Given the description of an element on the screen output the (x, y) to click on. 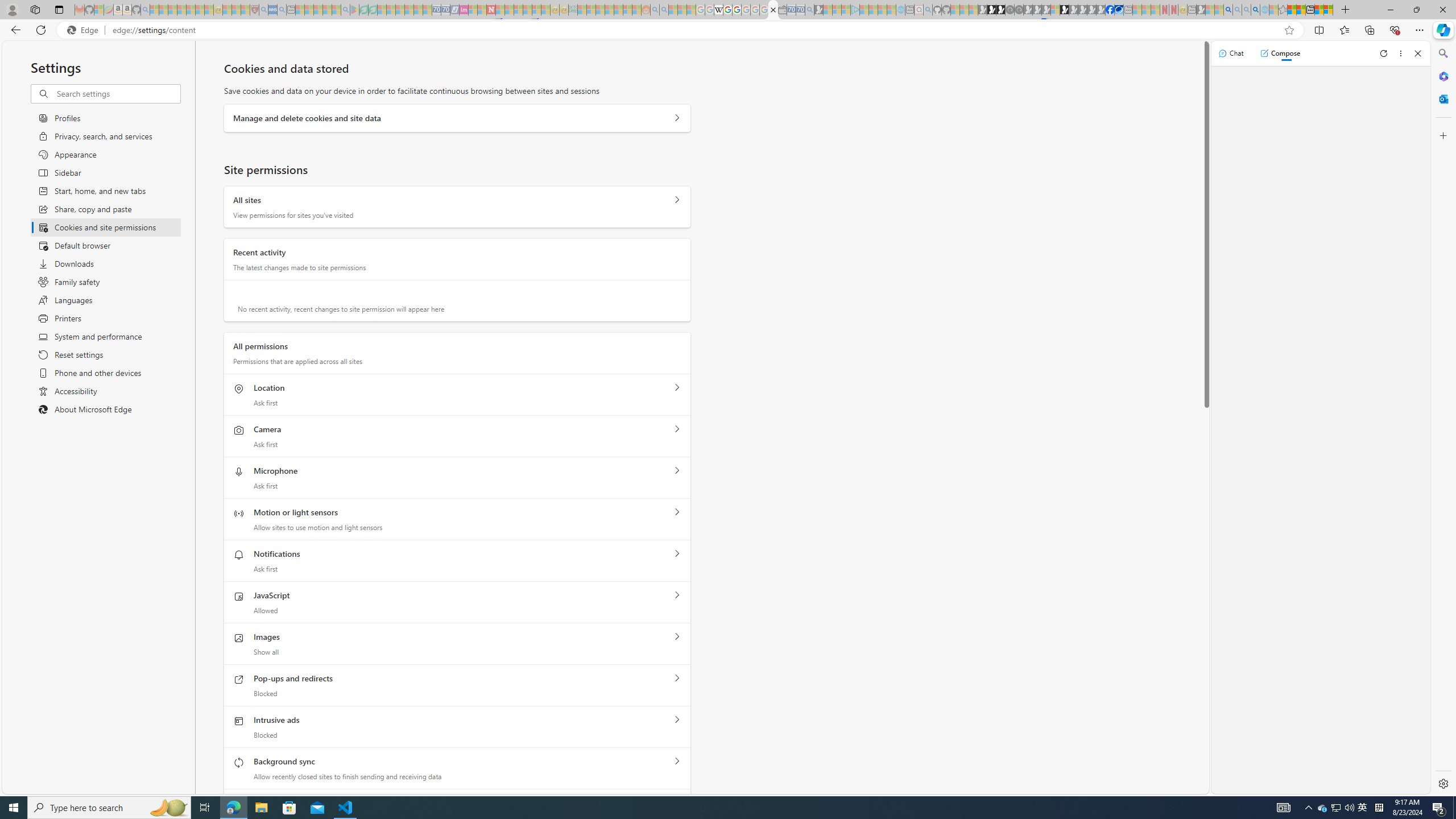
Jobs - lastminute.com Investor Portal - Sleeping (463, 9)
google - Search - Sleeping (345, 9)
MSNBC - MSN - Sleeping (581, 9)
New Report Confirms 2023 Was Record Hot | Watch - Sleeping (191, 9)
Images (676, 636)
Motion or light sensors (676, 512)
